Given the description of an element on the screen output the (x, y) to click on. 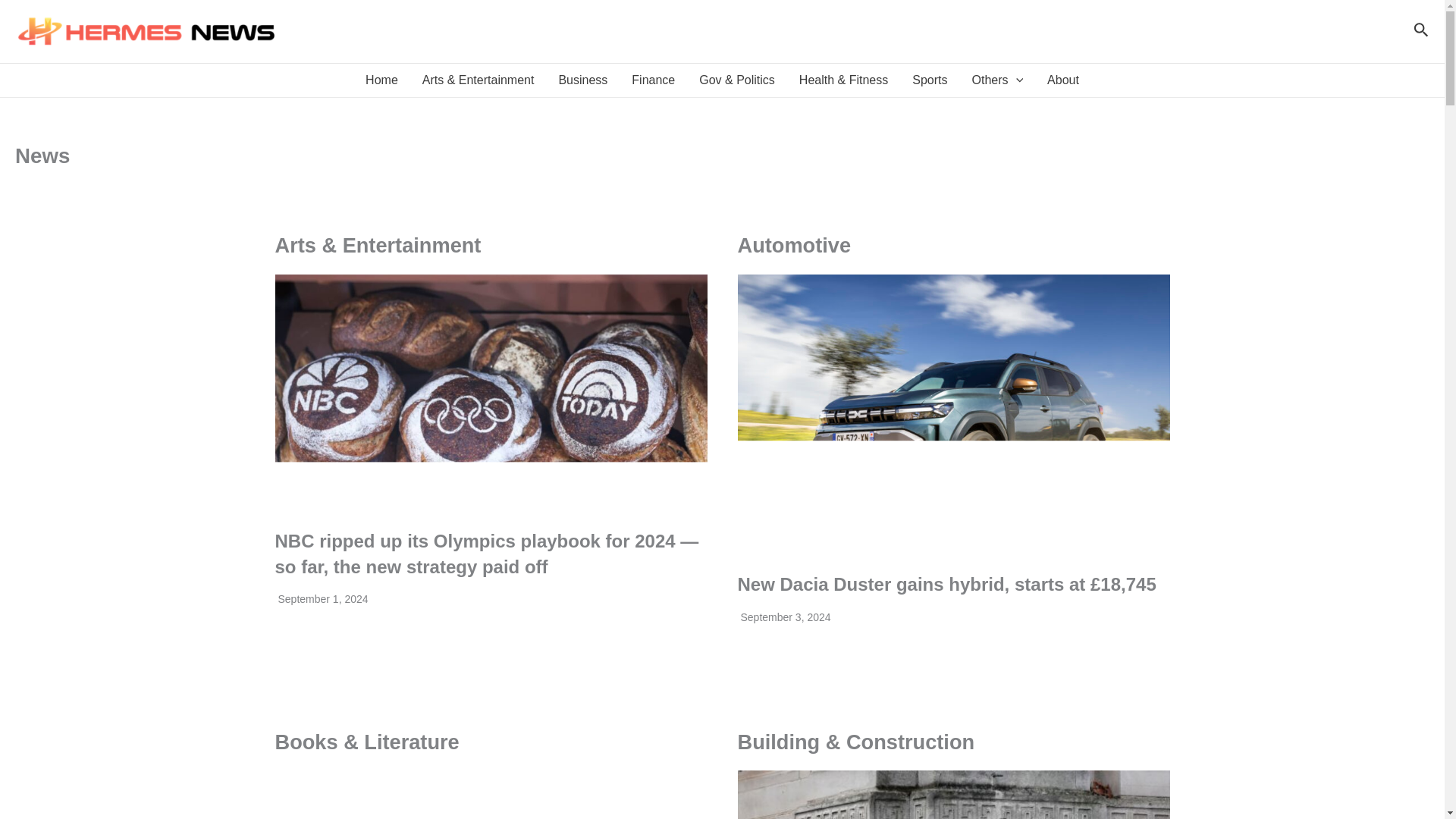
Sports (929, 80)
Others (997, 80)
Home (381, 80)
Finance (653, 80)
About (1062, 80)
Business (583, 80)
